Given the description of an element on the screen output the (x, y) to click on. 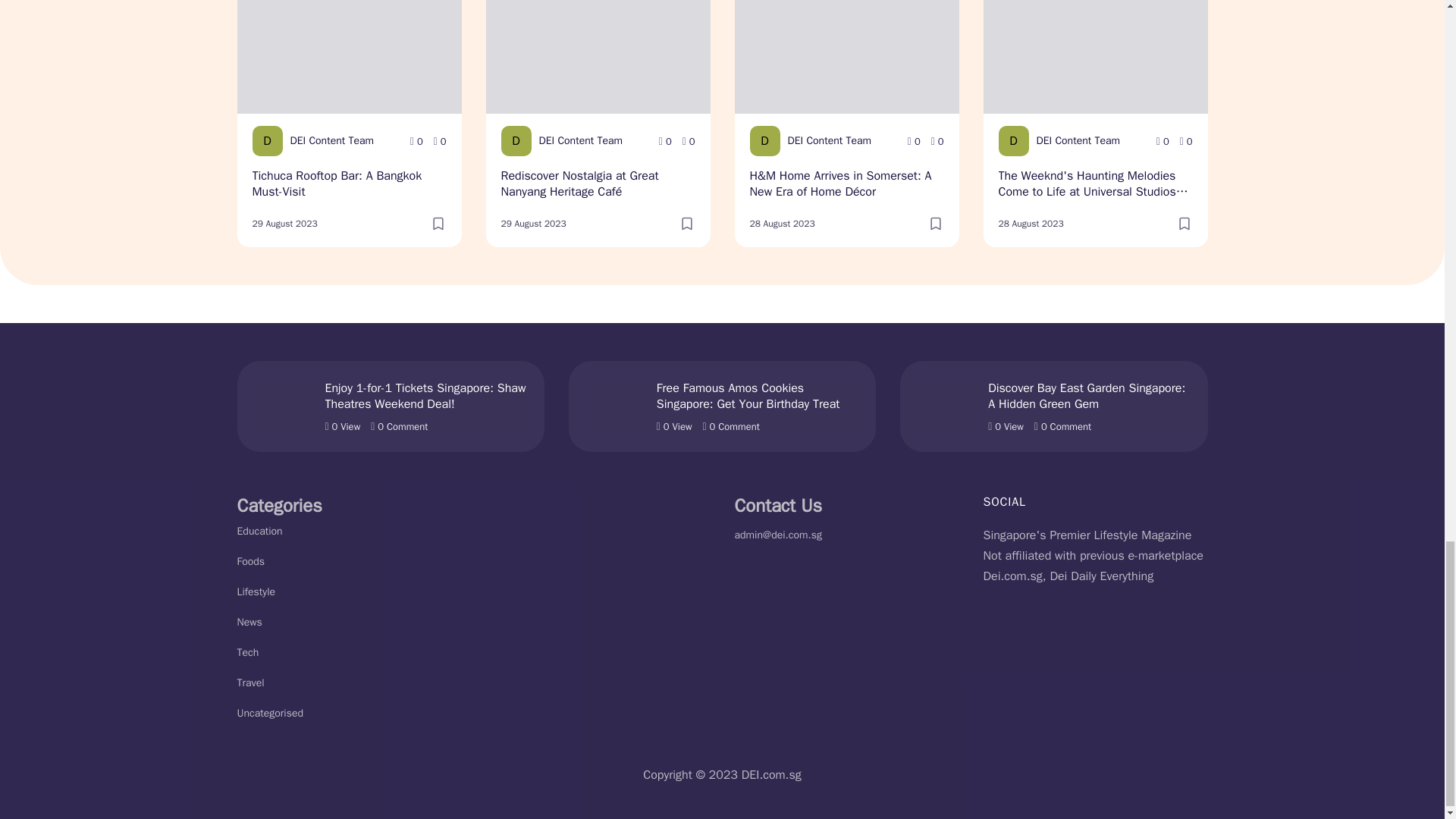
View (416, 141)
Comment (439, 141)
